Given the description of an element on the screen output the (x, y) to click on. 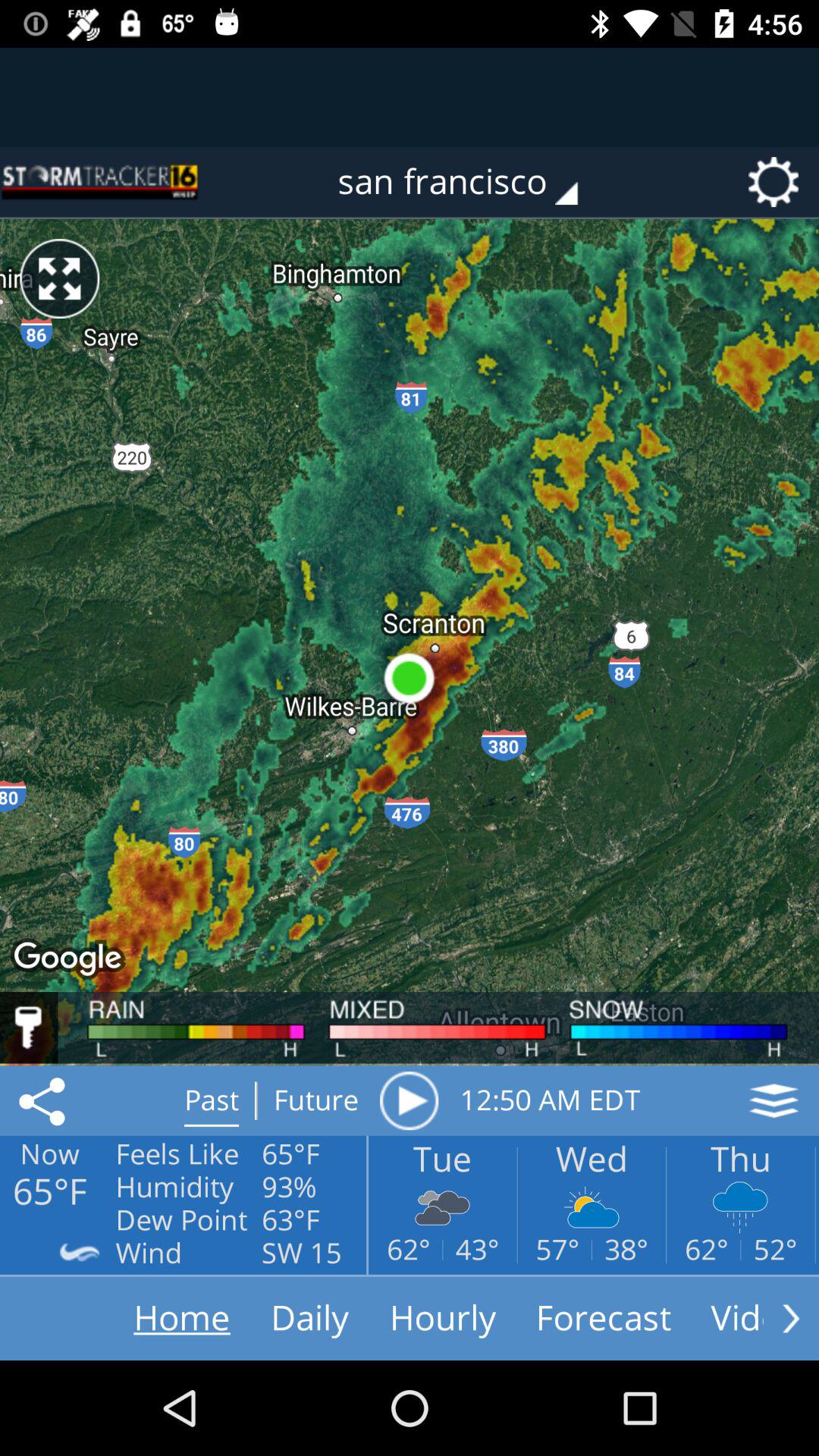
play radar animation (409, 1100)
